Given the description of an element on the screen output the (x, y) to click on. 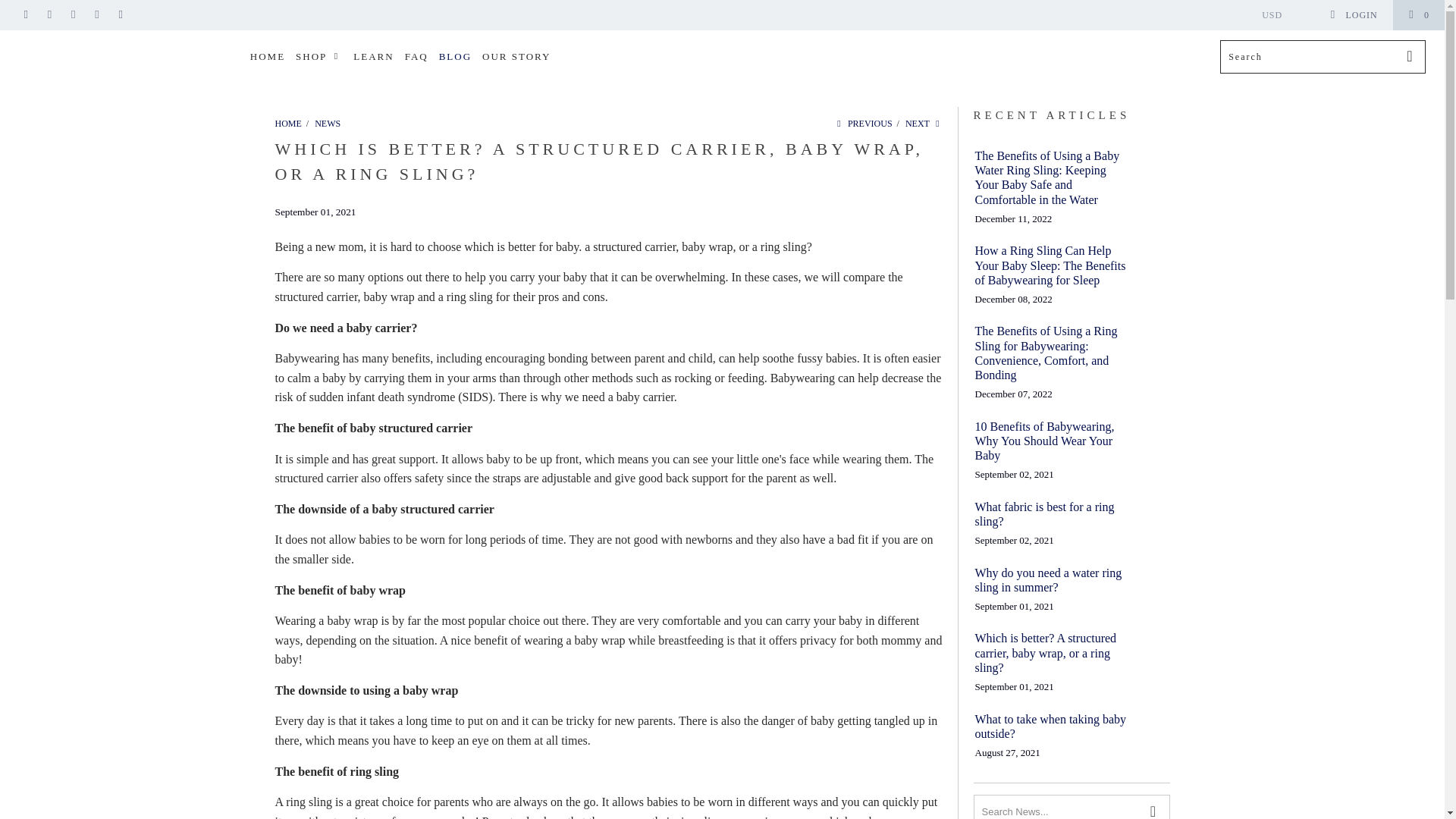
Vlokup on YouTube (48, 14)
News (327, 122)
LOGIN (1352, 15)
Vlokup on Instagram (96, 14)
Email Vlokup (119, 14)
OUR STORY (515, 56)
HOME (267, 56)
SHOP (318, 56)
Vlokup (122, 41)
LEARN (373, 56)
Vlokup (288, 122)
BLOG (455, 56)
Vlokup on Facebook (25, 14)
My Account  (1352, 15)
Vlokup on Pinterest (73, 14)
